Given the description of an element on the screen output the (x, y) to click on. 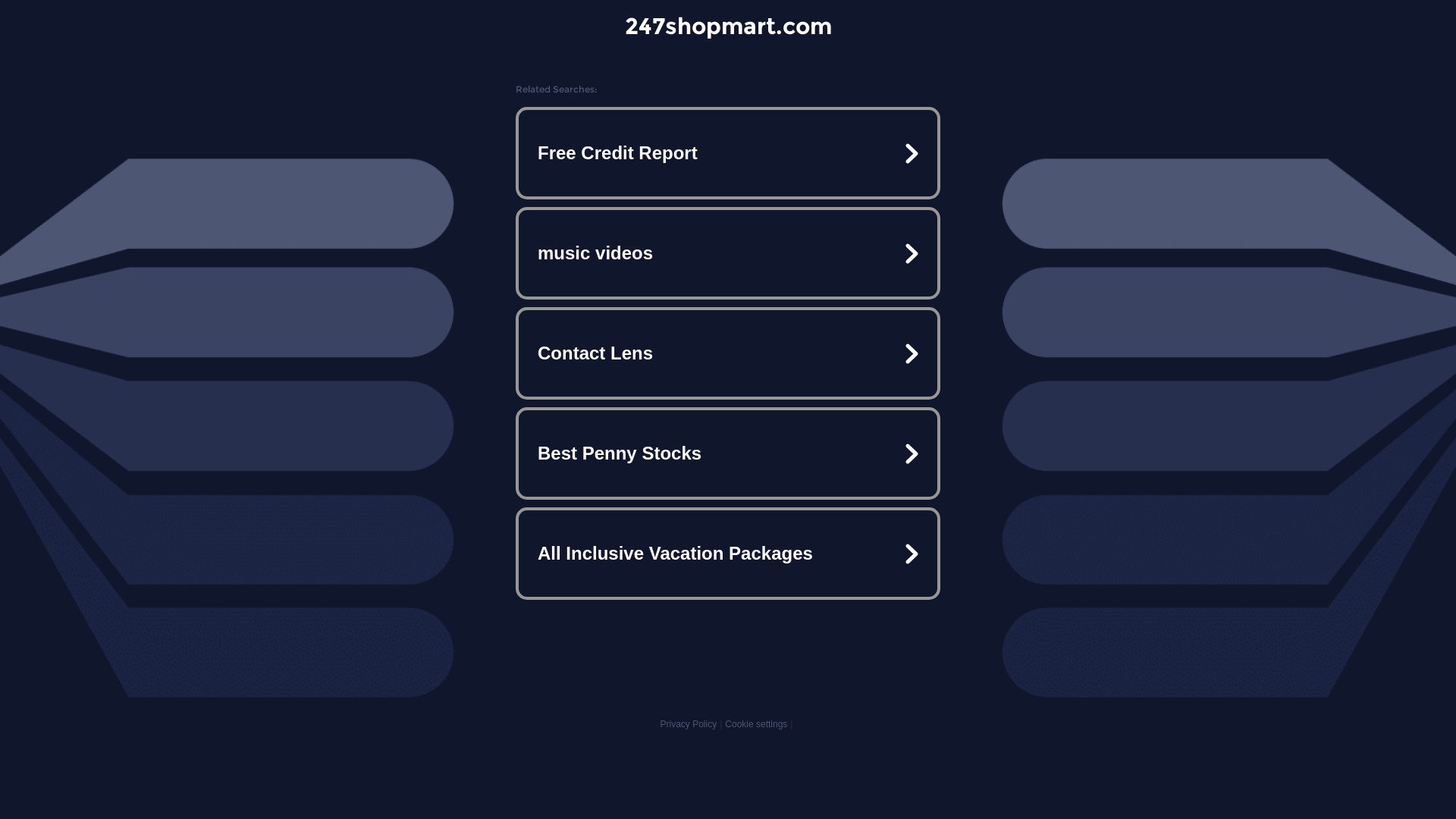
All Inclusive Vacation Packages Element type: text (727, 553)
Best Penny Stocks Element type: text (727, 453)
music videos Element type: text (727, 253)
Free Credit Report Element type: text (727, 152)
Privacy Policy Element type: text (687, 723)
Cookie settings Element type: text (755, 723)
247shopmart.com Element type: text (727, 26)
Contact Lens Element type: text (727, 353)
